Given the description of an element on the screen output the (x, y) to click on. 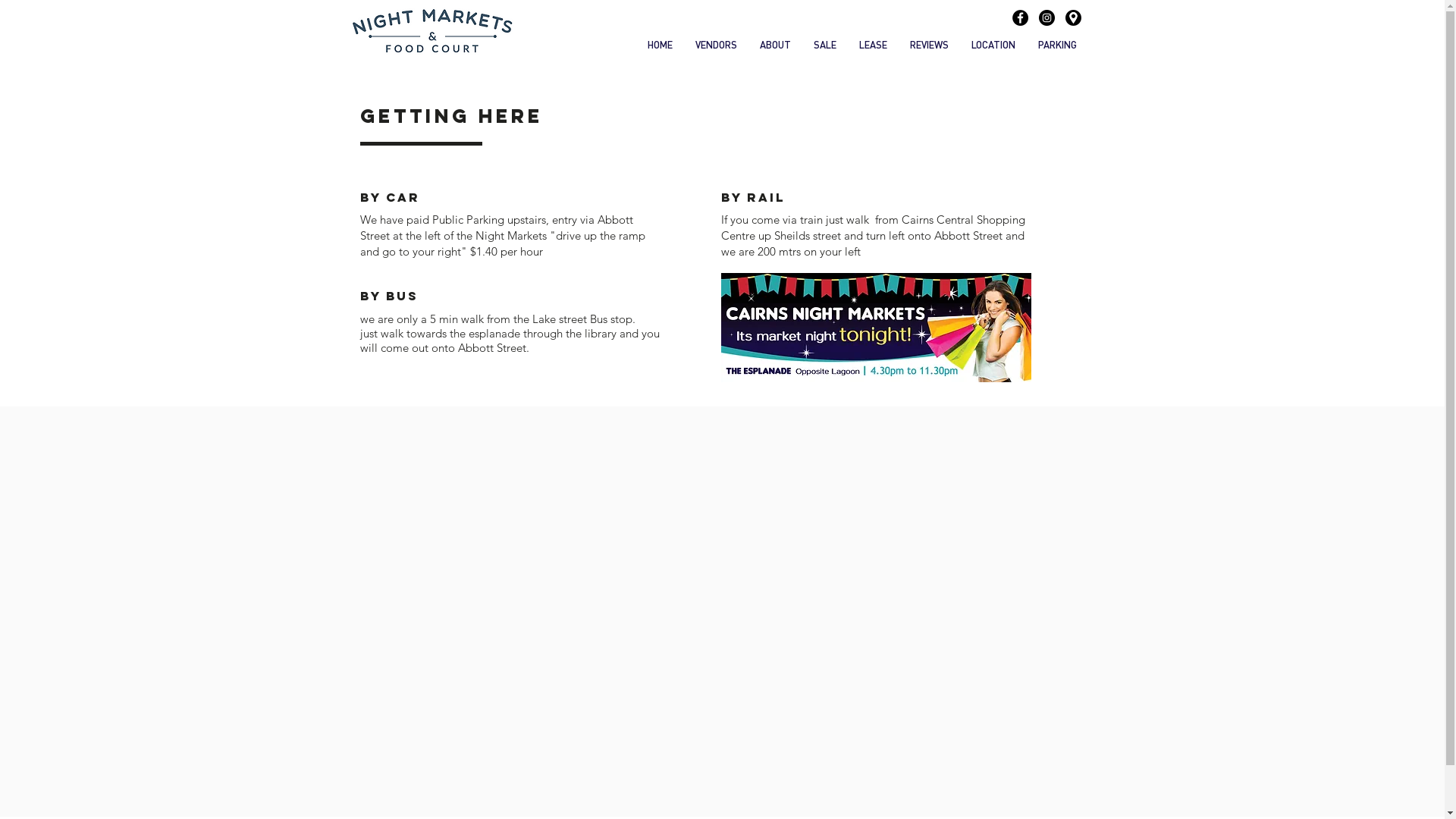
VENDORS Element type: text (716, 44)
ABOUT Element type: text (774, 44)
REVIEWS Element type: text (928, 44)
HOME Element type: text (659, 44)
PARKING Element type: text (1057, 44)
LOCATION Element type: text (993, 44)
SALE Element type: text (824, 44)
LEASE Element type: text (872, 44)
